Given the description of an element on the screen output the (x, y) to click on. 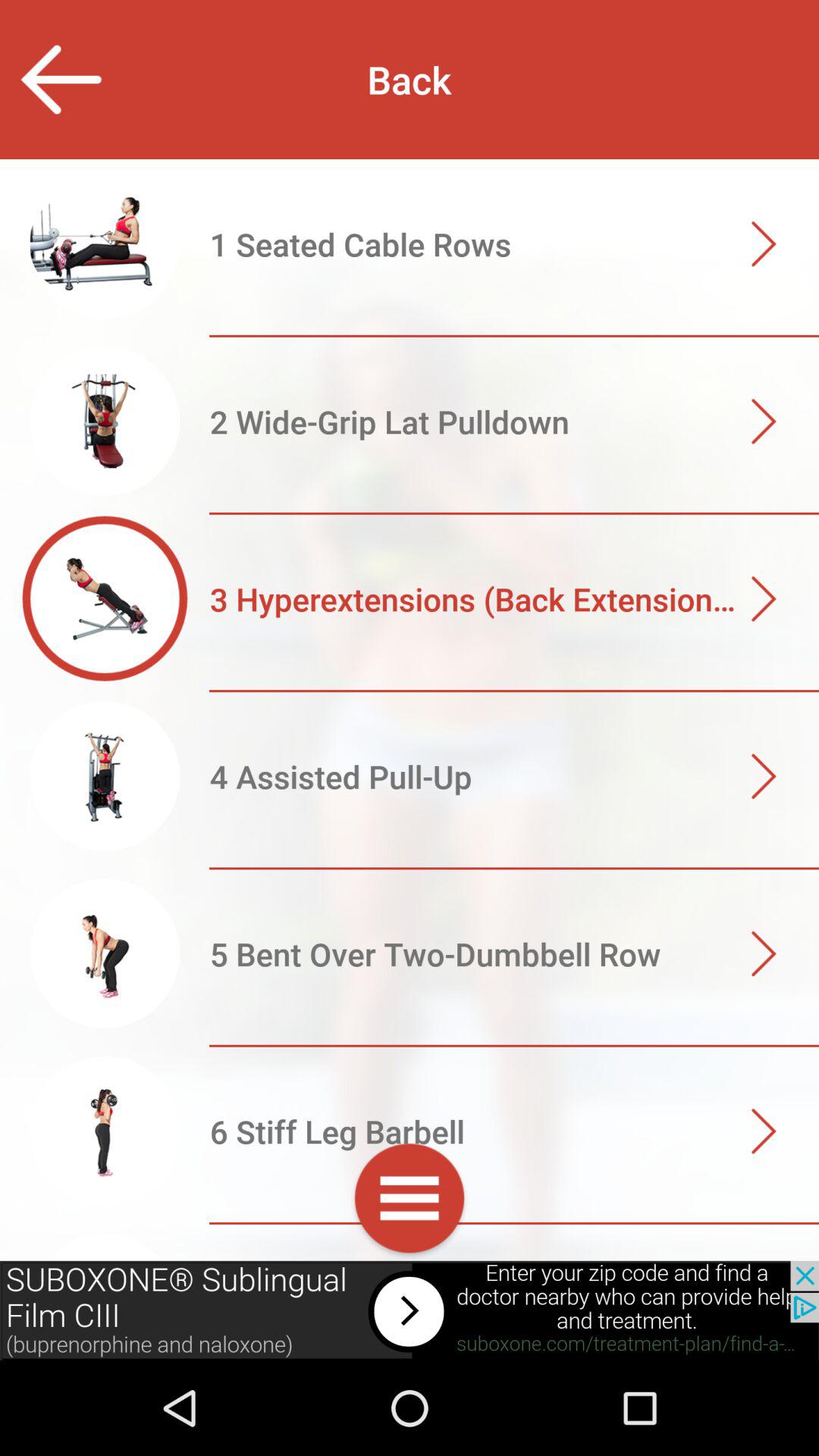
open advertisements website (409, 1310)
